Given the description of an element on the screen output the (x, y) to click on. 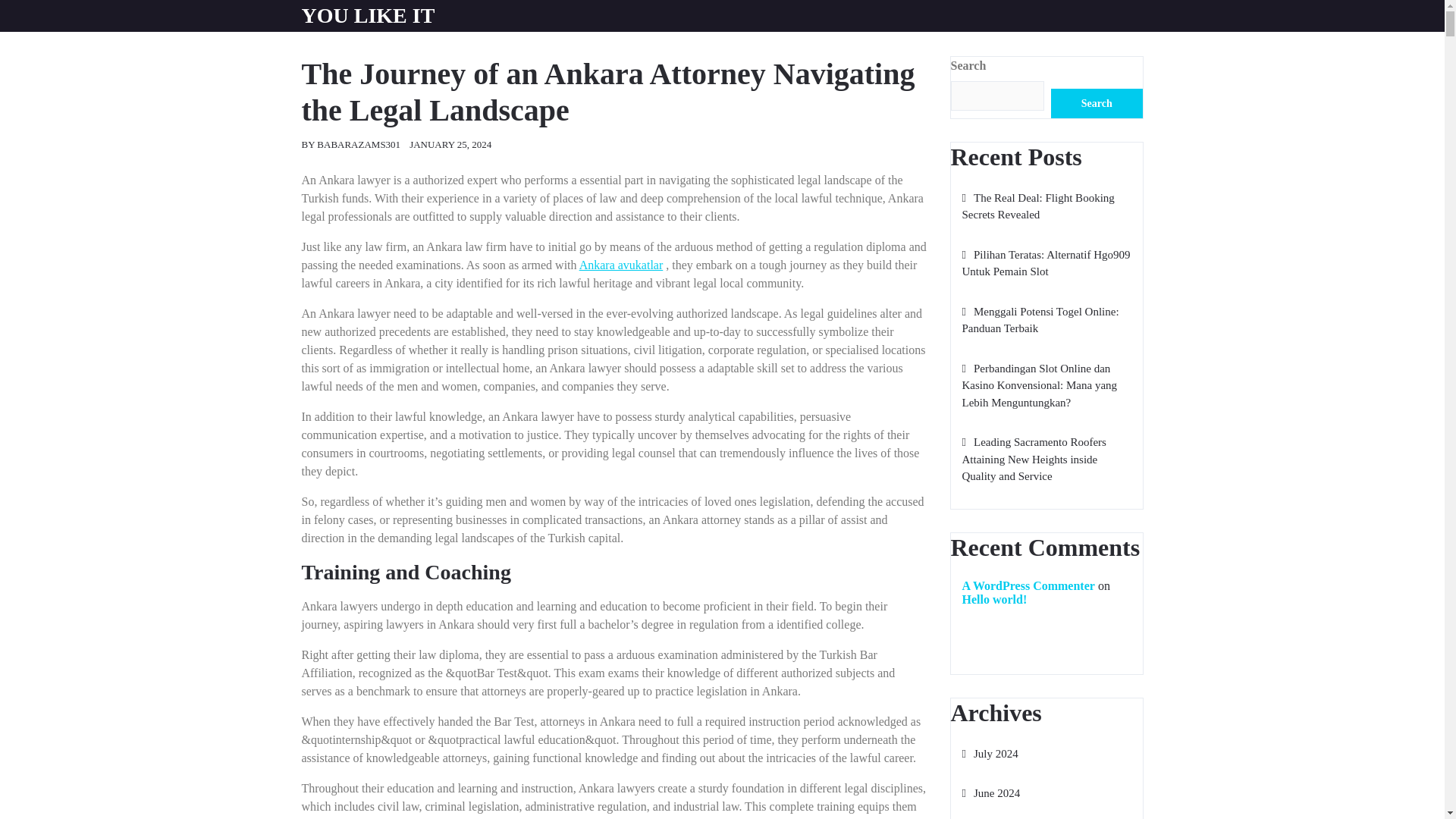
Search (1096, 102)
June 2024 (990, 793)
YOU LIKE IT (368, 15)
Menggali Potensi Togel Online: Panduan Terbaik (1039, 319)
July 2024 (988, 753)
Hello world! (993, 599)
BABARAZAMS301 (358, 143)
The Real Deal: Flight Booking Secrets Revealed (1036, 206)
Ankara avukatlar (621, 264)
A WordPress Commenter (1027, 585)
Pilihan Teratas: Alternatif Hgo909 Untuk Pemain Slot (1044, 263)
